Given the description of an element on the screen output the (x, y) to click on. 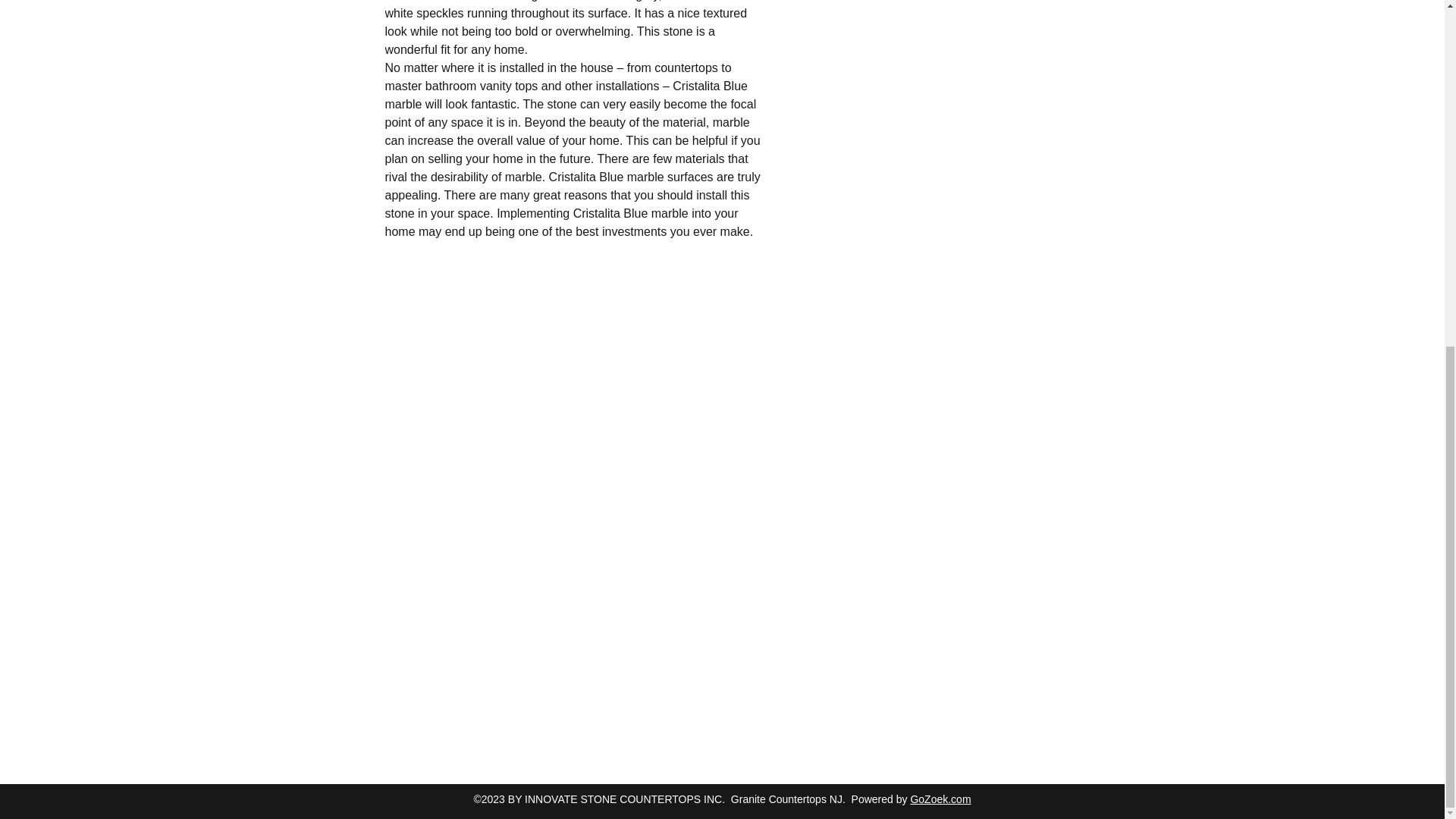
GoZoek.com (940, 799)
